Given the description of an element on the screen output the (x, y) to click on. 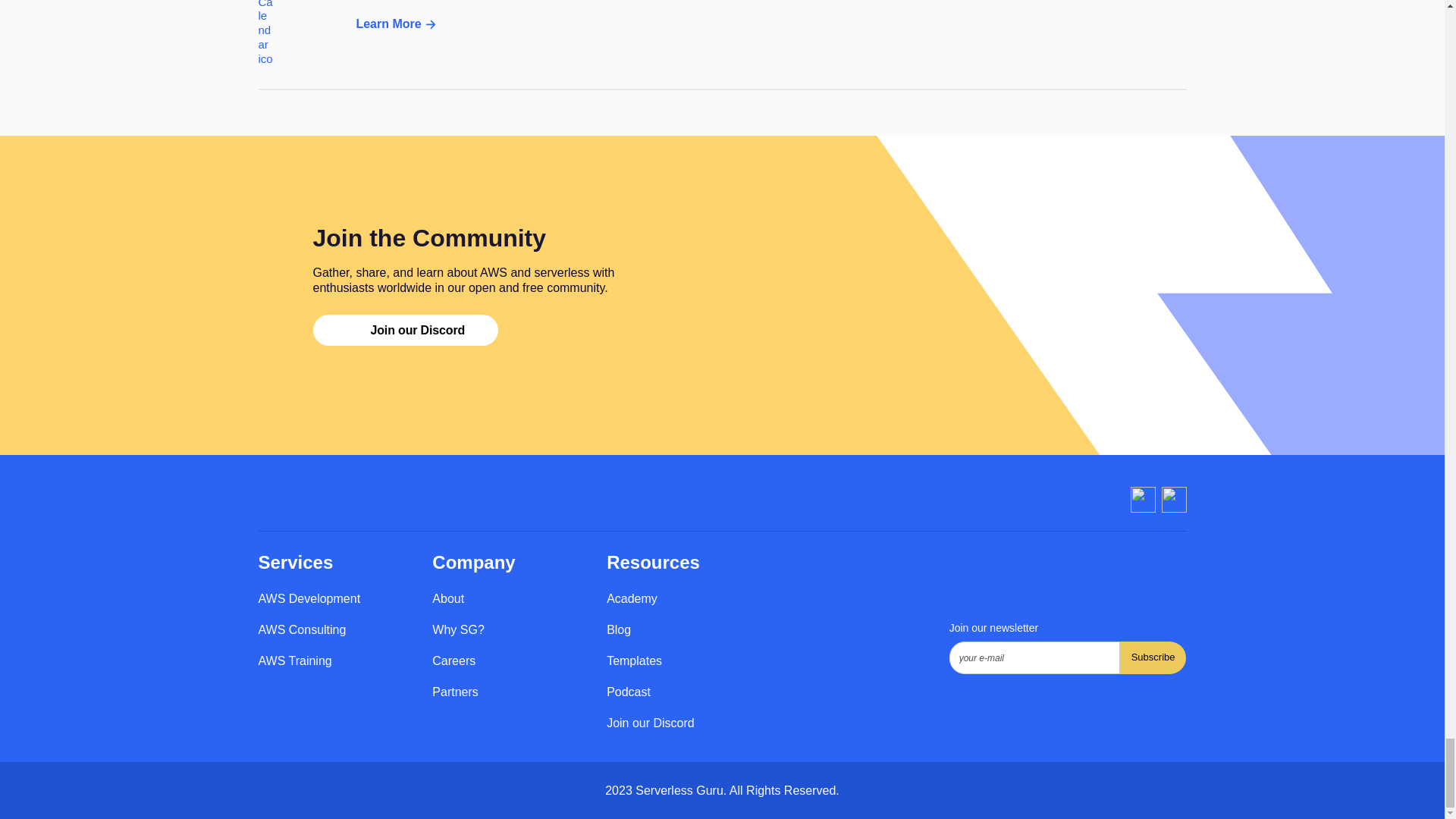
Join our Discord (405, 329)
Subscribe (721, 45)
